Given the description of an element on the screen output the (x, y) to click on. 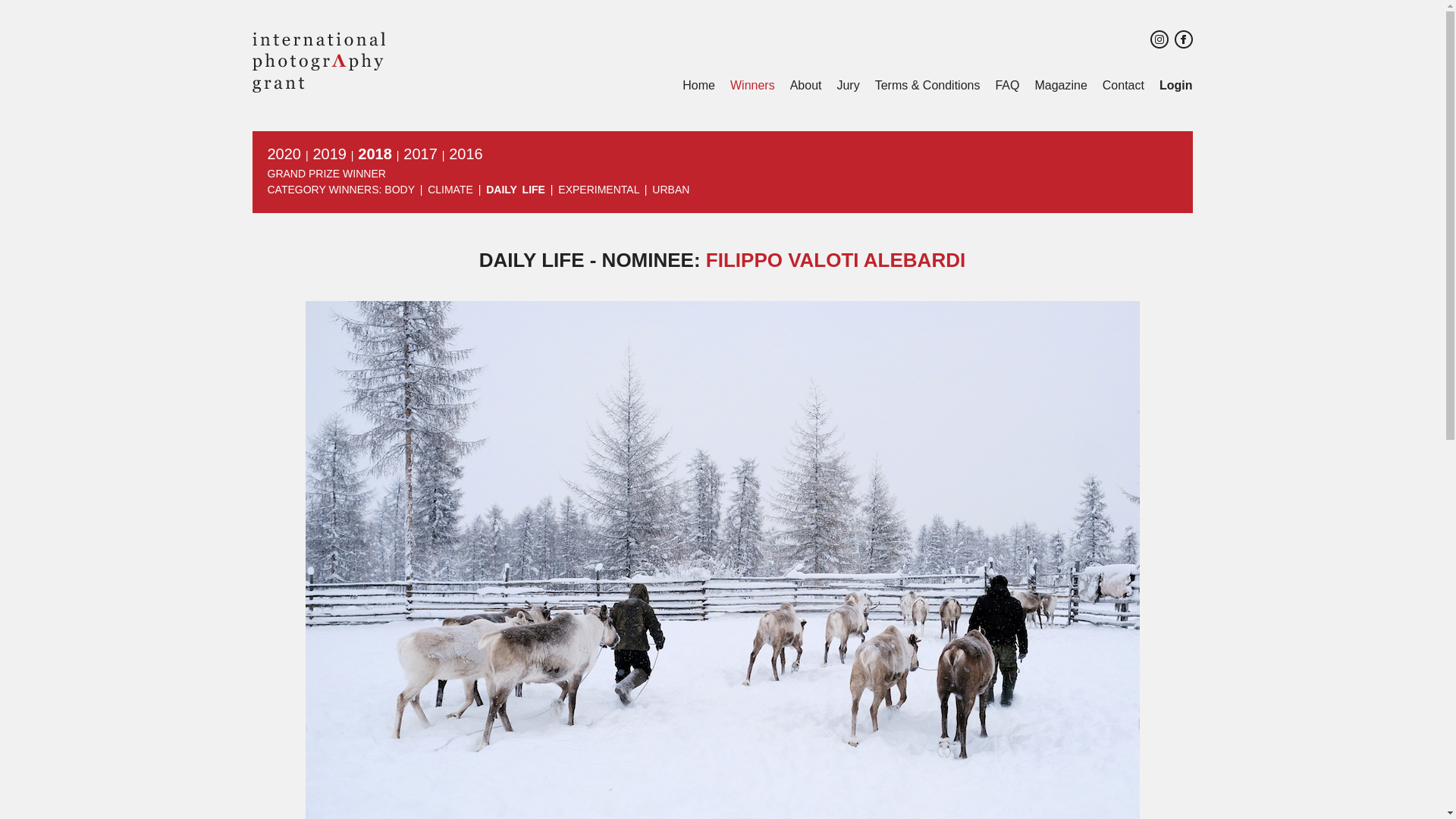
FAQ (1006, 84)
facebook (1182, 39)
BODY (398, 189)
EXPERIMENTAL (598, 189)
DAILY LIFE (515, 189)
2016 (465, 153)
GRAND PRIZE WINNER (325, 173)
instagram (1159, 39)
2020 (283, 153)
URBAN (670, 189)
